Given the description of an element on the screen output the (x, y) to click on. 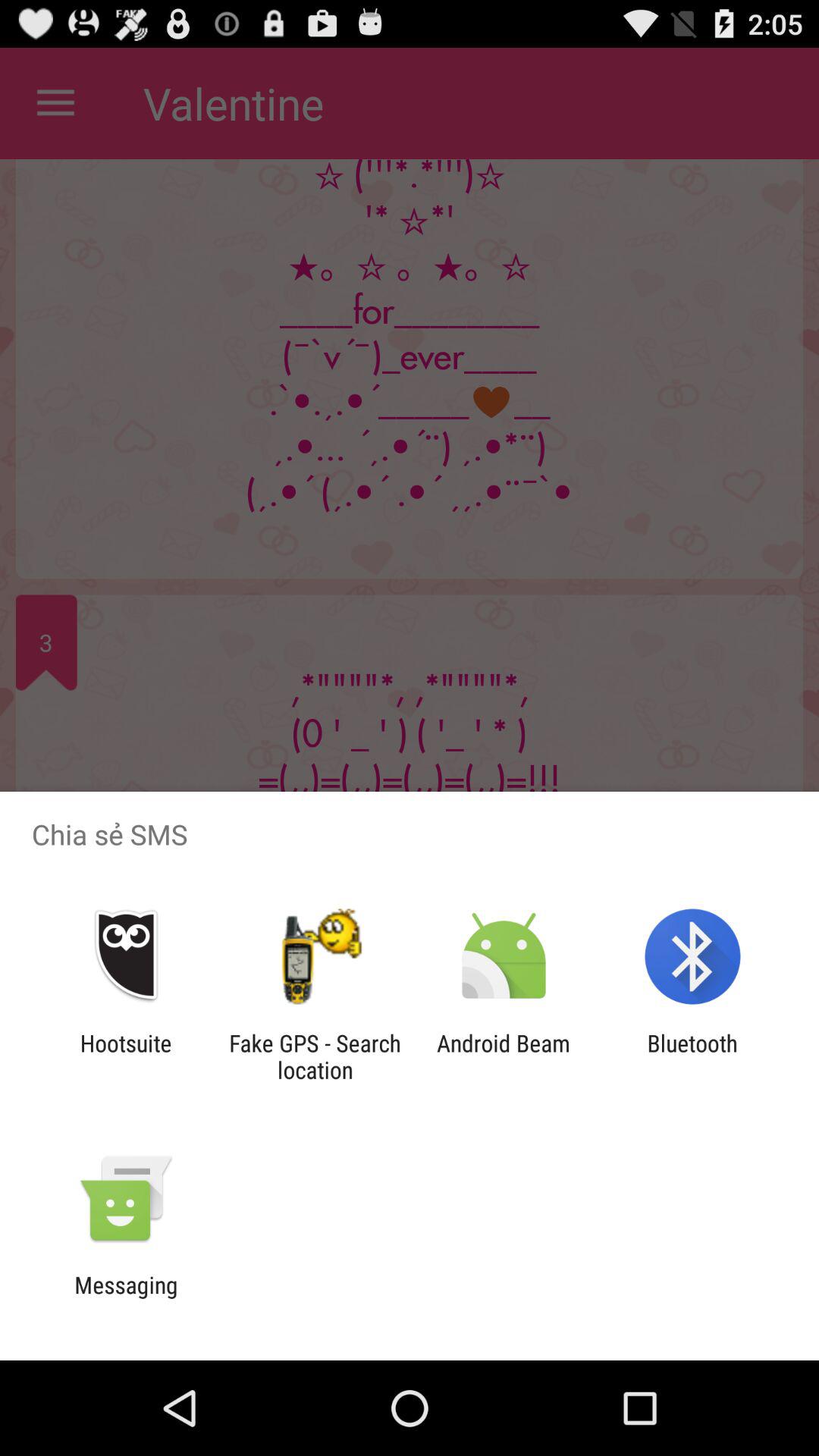
launch icon next to android beam icon (692, 1056)
